Given the description of an element on the screen output the (x, y) to click on. 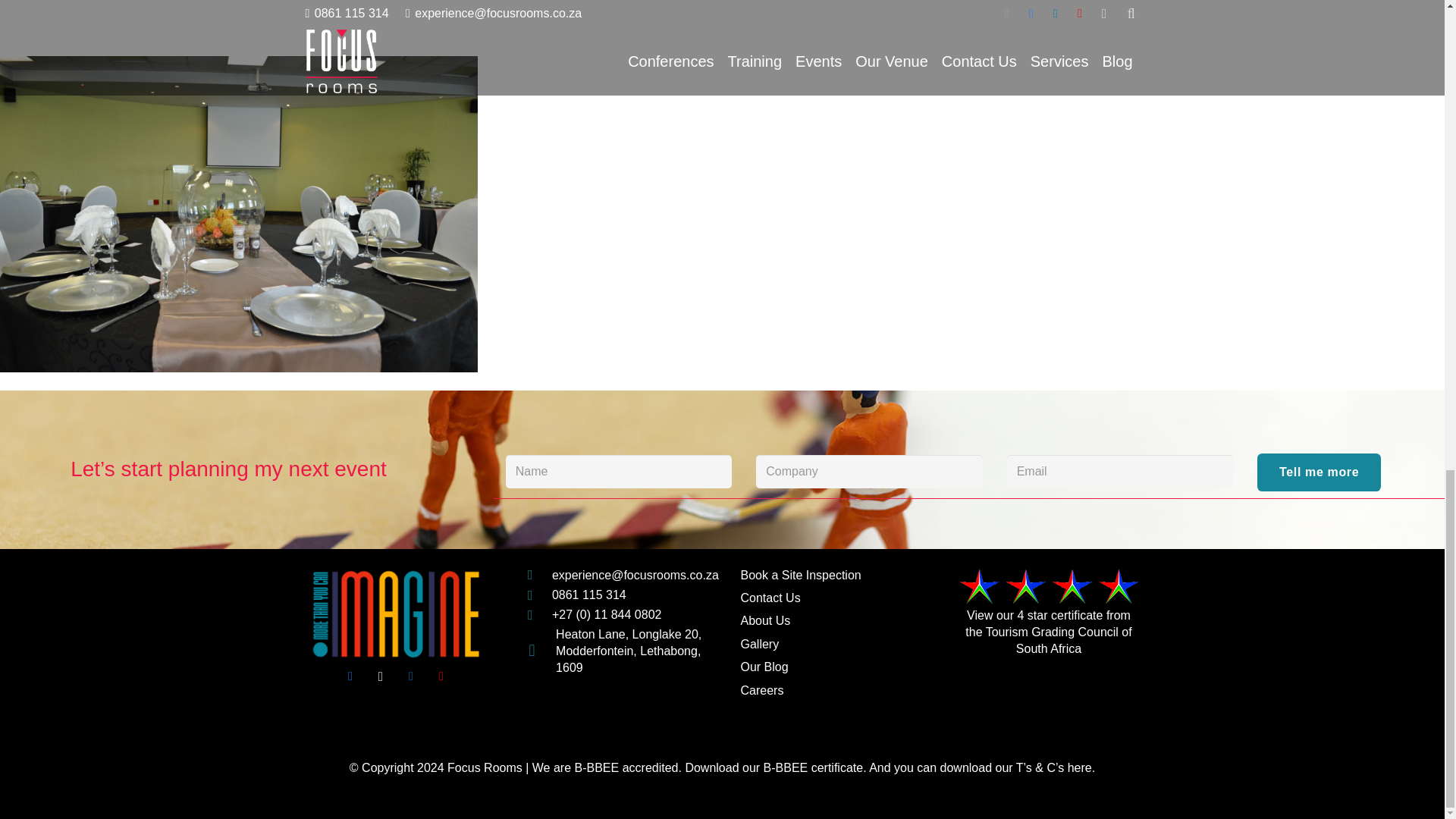
MORE THAN YOU CAN IMAGINE (395, 613)
Tell me more (1318, 472)
Facebook (349, 675)
YouTube (441, 675)
Instagram (380, 675)
LinkedIn (411, 675)
